Given the description of an element on the screen output the (x, y) to click on. 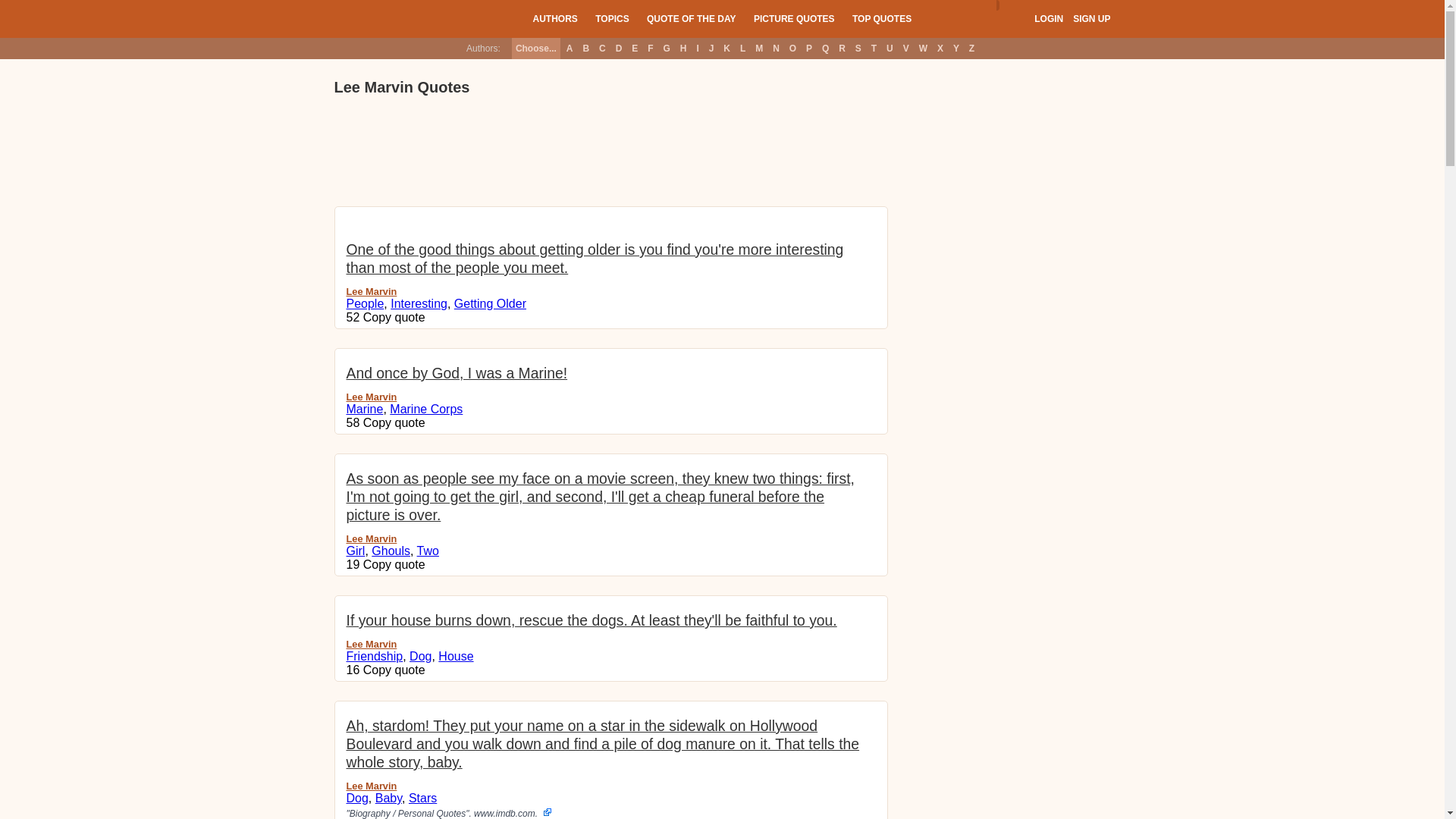
QUOTE OF THE DAY (691, 18)
PICTURE QUOTES (794, 18)
AUTHORS (554, 18)
TOPICS (612, 18)
Quote is copied (393, 317)
Quote is copied (393, 422)
Quote is copied (393, 563)
SIGN UP (1091, 18)
Quote is copied (393, 669)
TOP QUOTES (881, 18)
